Given the description of an element on the screen output the (x, y) to click on. 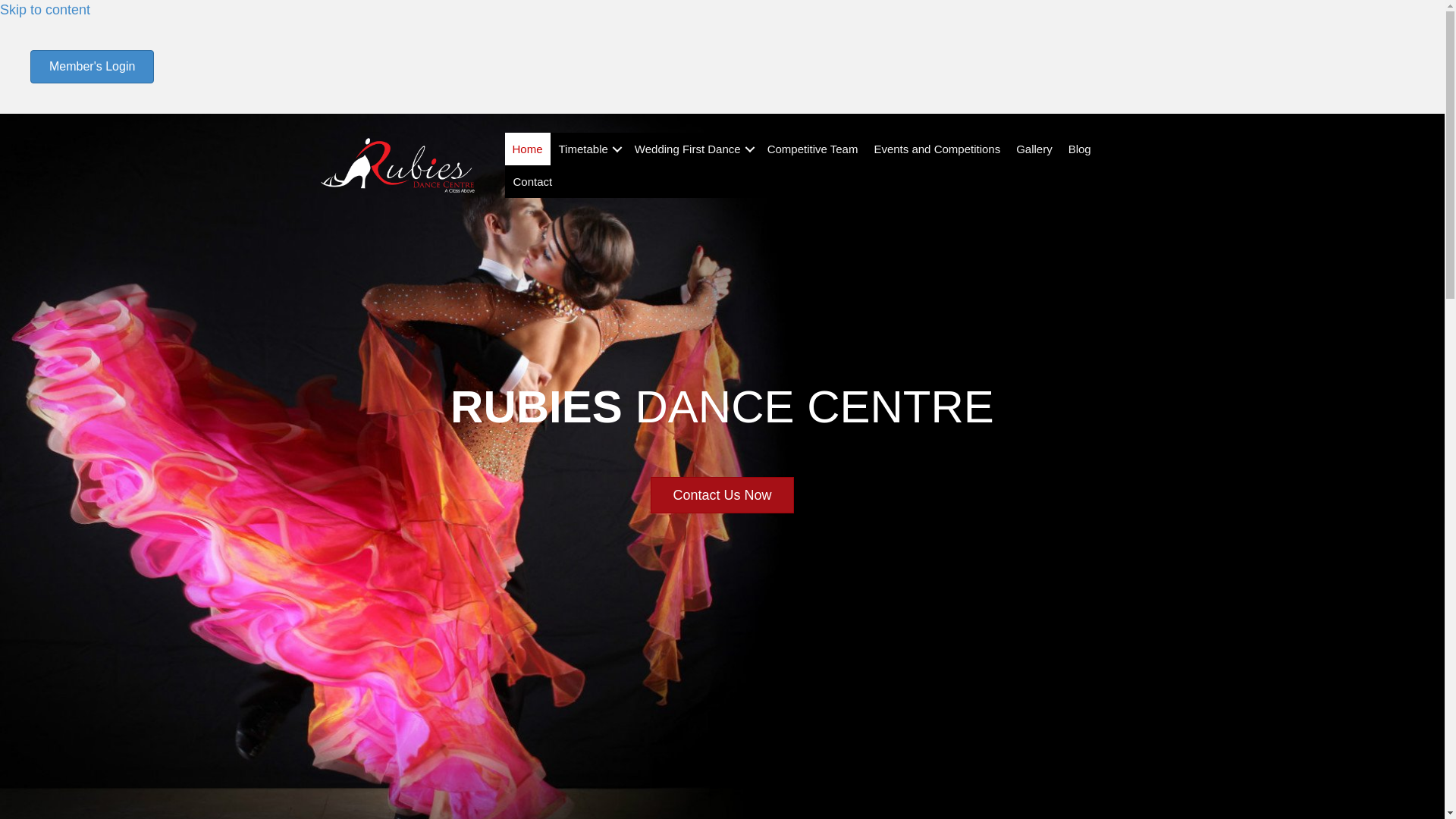
Wedding First Dance (692, 148)
rubie-dance-centre-egham (397, 165)
Competitive Team (813, 148)
Timetable (588, 148)
Home (527, 148)
Member's Login (92, 66)
Events and Competitions (936, 148)
Skip to content (45, 9)
Gallery (1034, 148)
Blog (1080, 148)
